Given the description of an element on the screen output the (x, y) to click on. 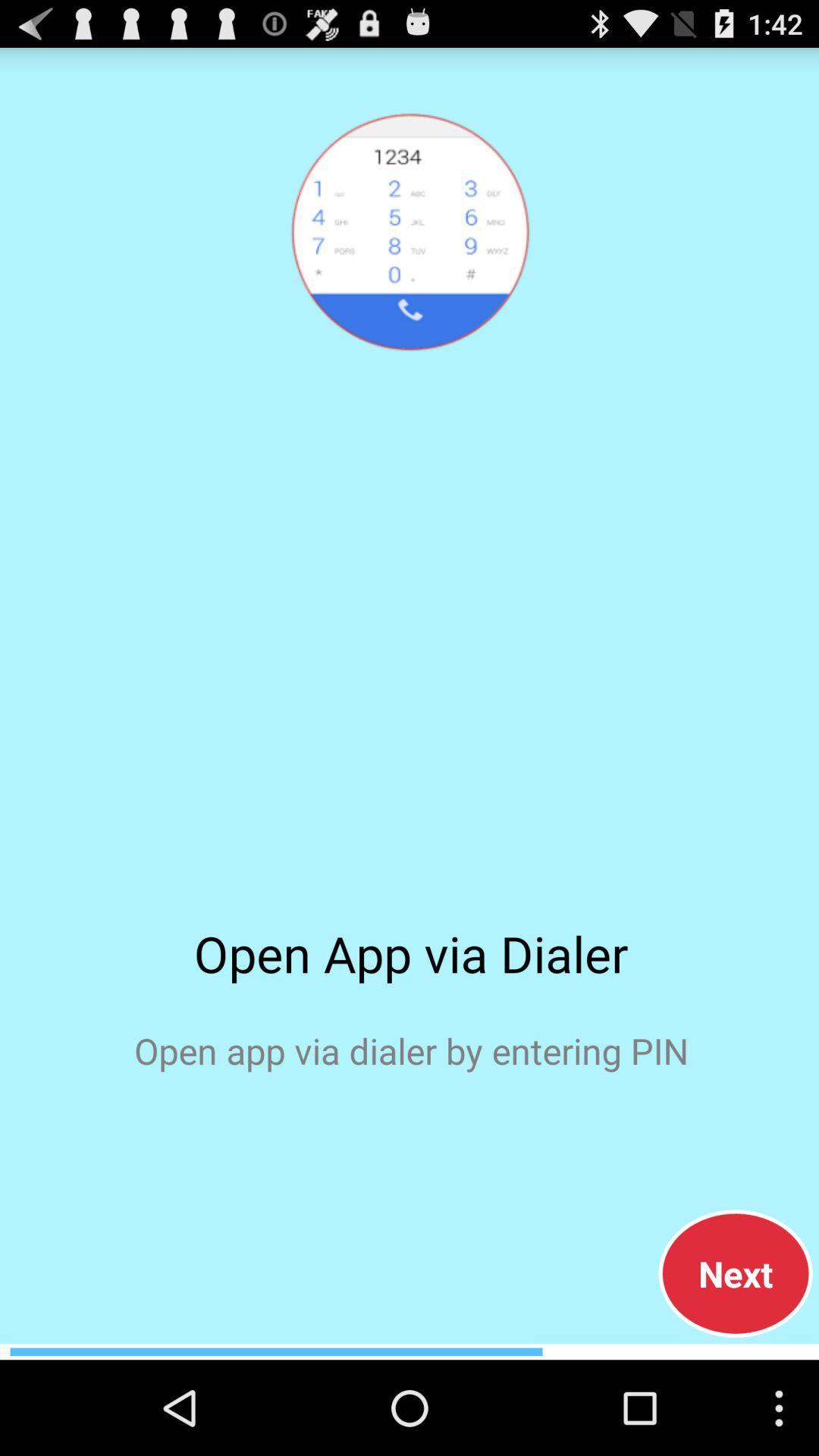
select the icon below open app via (735, 1273)
